Given the description of an element on the screen output the (x, y) to click on. 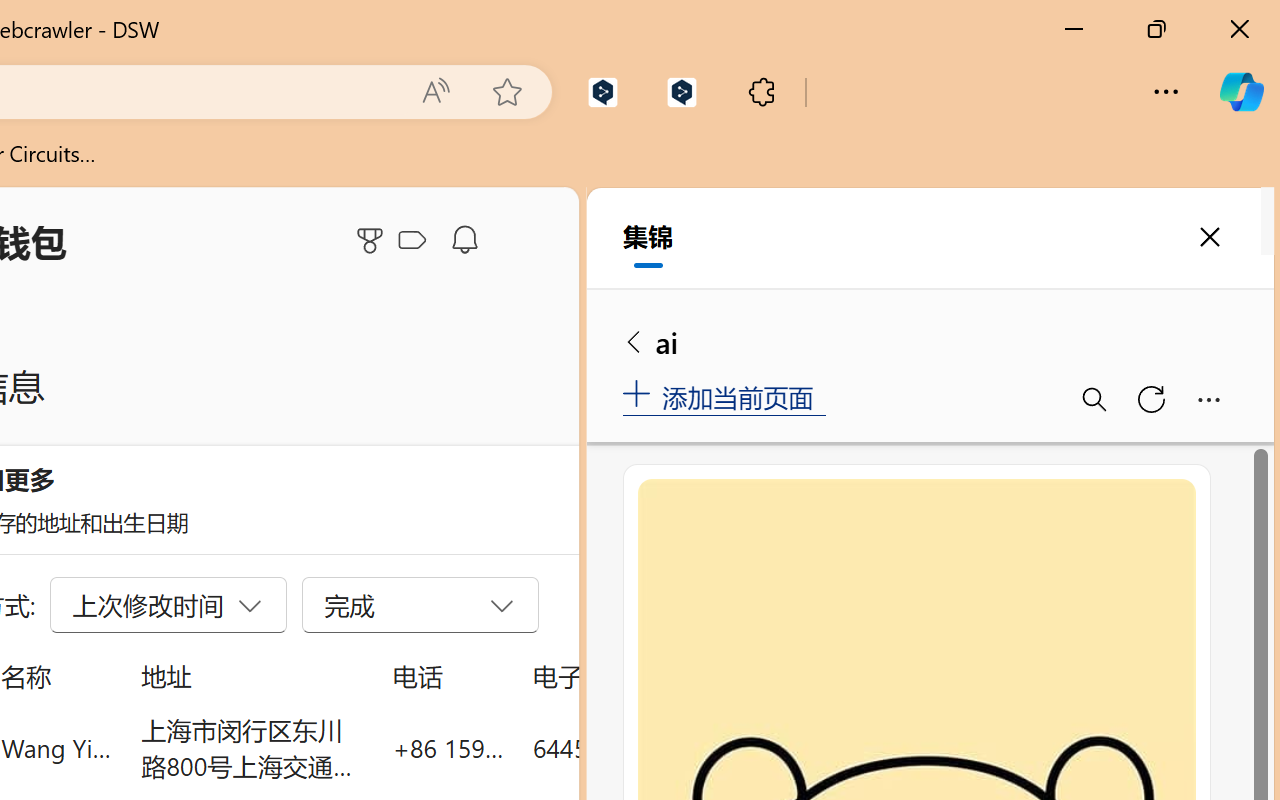
Copilot (Ctrl+Shift+.) (1241, 91)
644553698@qq.com (644, 747)
+86 159 0032 4640 (447, 747)
Microsoft Rewards (373, 240)
